Given the description of an element on the screen output the (x, y) to click on. 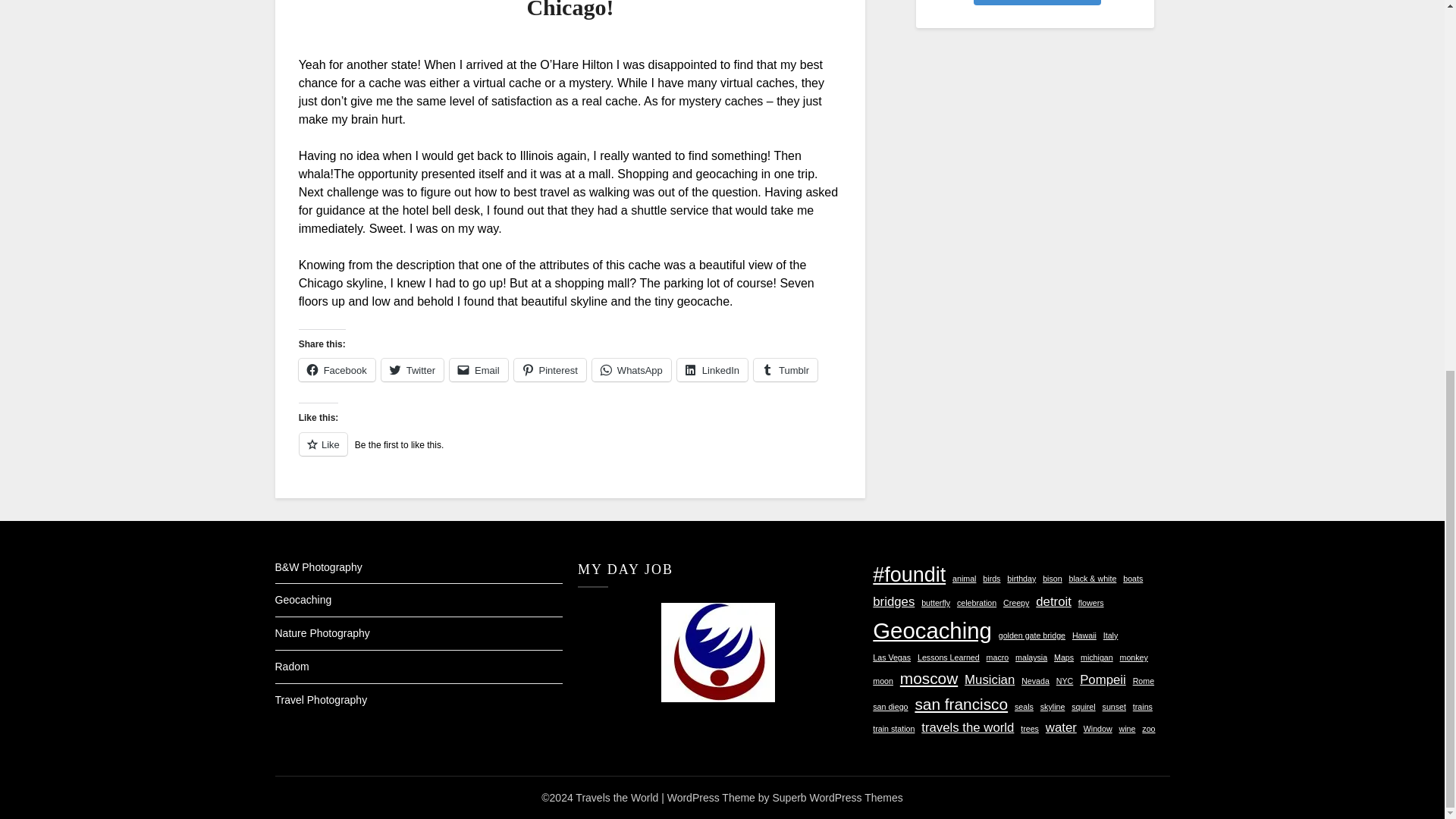
Email (478, 369)
Click to share on Twitter (412, 369)
My Day Job (717, 651)
Tumblr (785, 369)
Click to share on Pinterest (549, 369)
Click to email a link to a friend (478, 369)
Facebook (336, 369)
Twitter (412, 369)
LinkedIn (712, 369)
Click to share on Tumblr (785, 369)
Pinterest (549, 369)
Click to share on WhatsApp (631, 369)
Follow on Instagram (1038, 2)
Click to share on Facebook (336, 369)
Click to share on LinkedIn (712, 369)
